Given the description of an element on the screen output the (x, y) to click on. 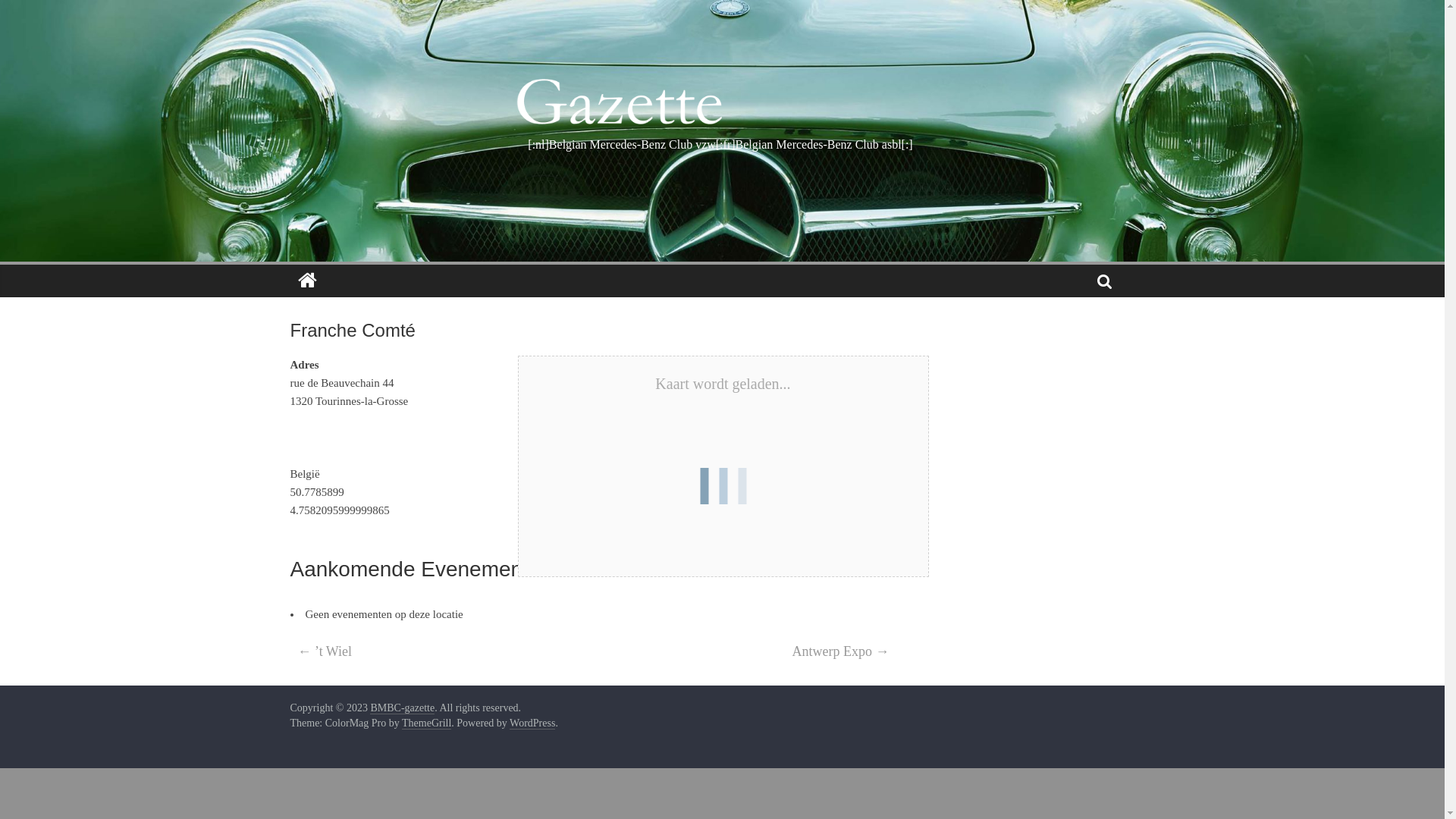
WordPress Element type: text (532, 723)
ThemeGrill Element type: text (426, 723)
BMBC-gazette Element type: hover (306, 280)
BMBC-gazette Element type: text (402, 708)
